Given the description of an element on the screen output the (x, y) to click on. 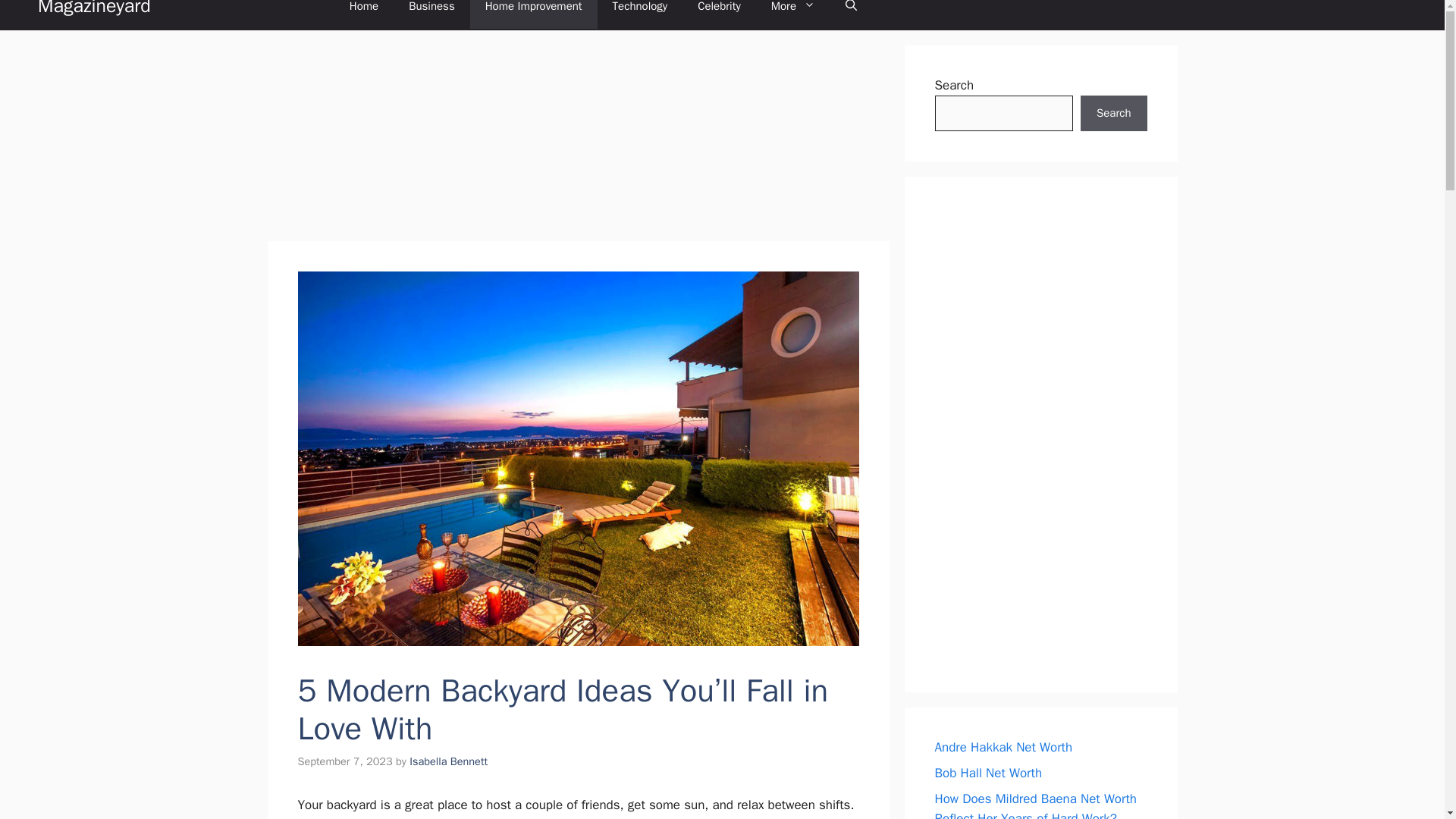
View all posts by Isabella Bennett (448, 761)
Home (363, 14)
Andre Hakkak Net Worth (1002, 747)
Search (1113, 113)
Bob Hall Net Worth (988, 772)
Isabella Bennett (448, 761)
Home Improvement (533, 14)
Celebrity (718, 14)
Business (431, 14)
